Given the description of an element on the screen output the (x, y) to click on. 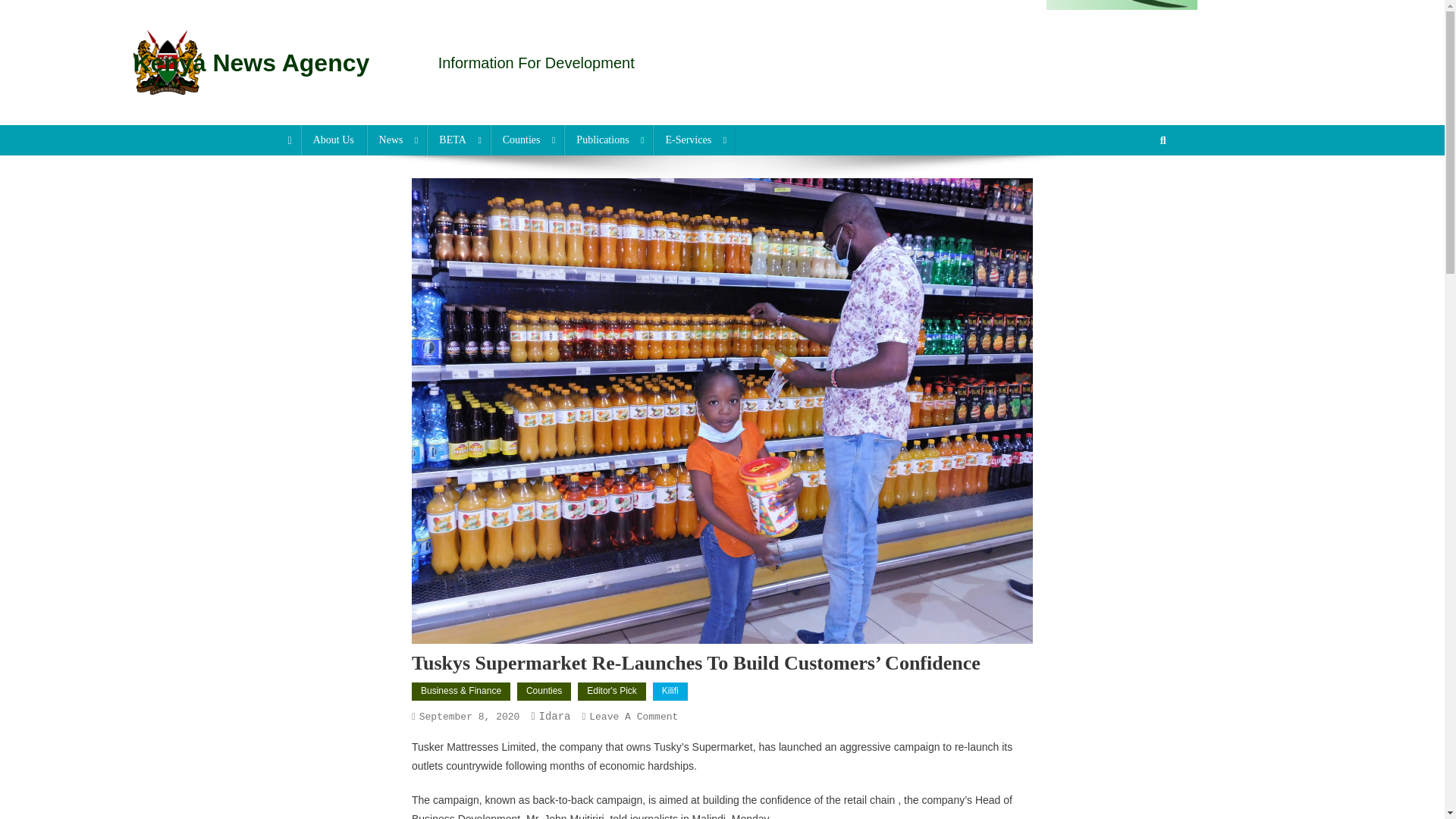
Kenya News Agency (250, 62)
About Us (333, 140)
BETA (457, 140)
Counties (527, 140)
News (396, 140)
